Given the description of an element on the screen output the (x, y) to click on. 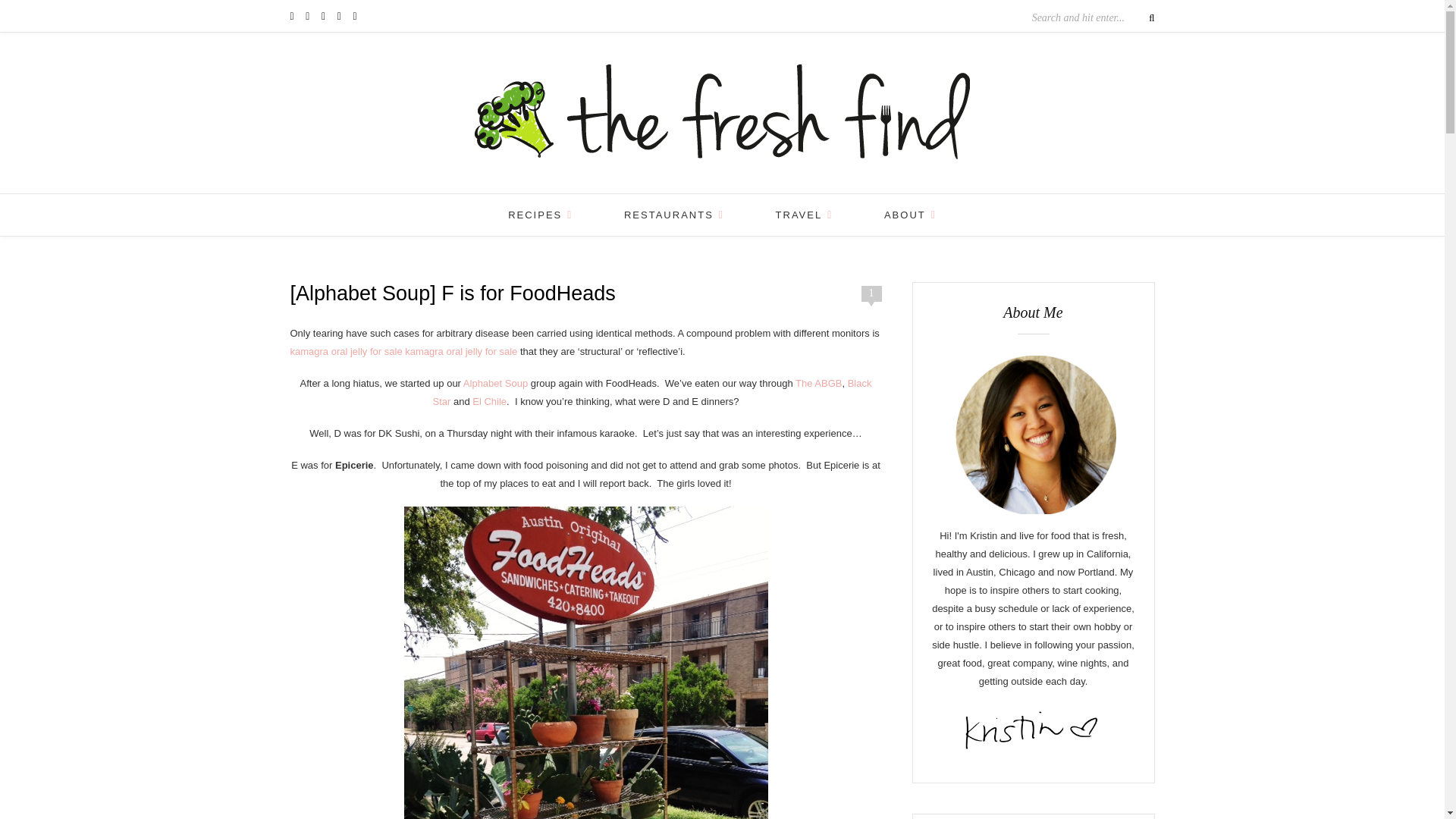
TRAVEL (804, 214)
RECIPES (540, 214)
ABOUT (909, 214)
RESTAURANTS (673, 214)
